Given the description of an element on the screen output the (x, y) to click on. 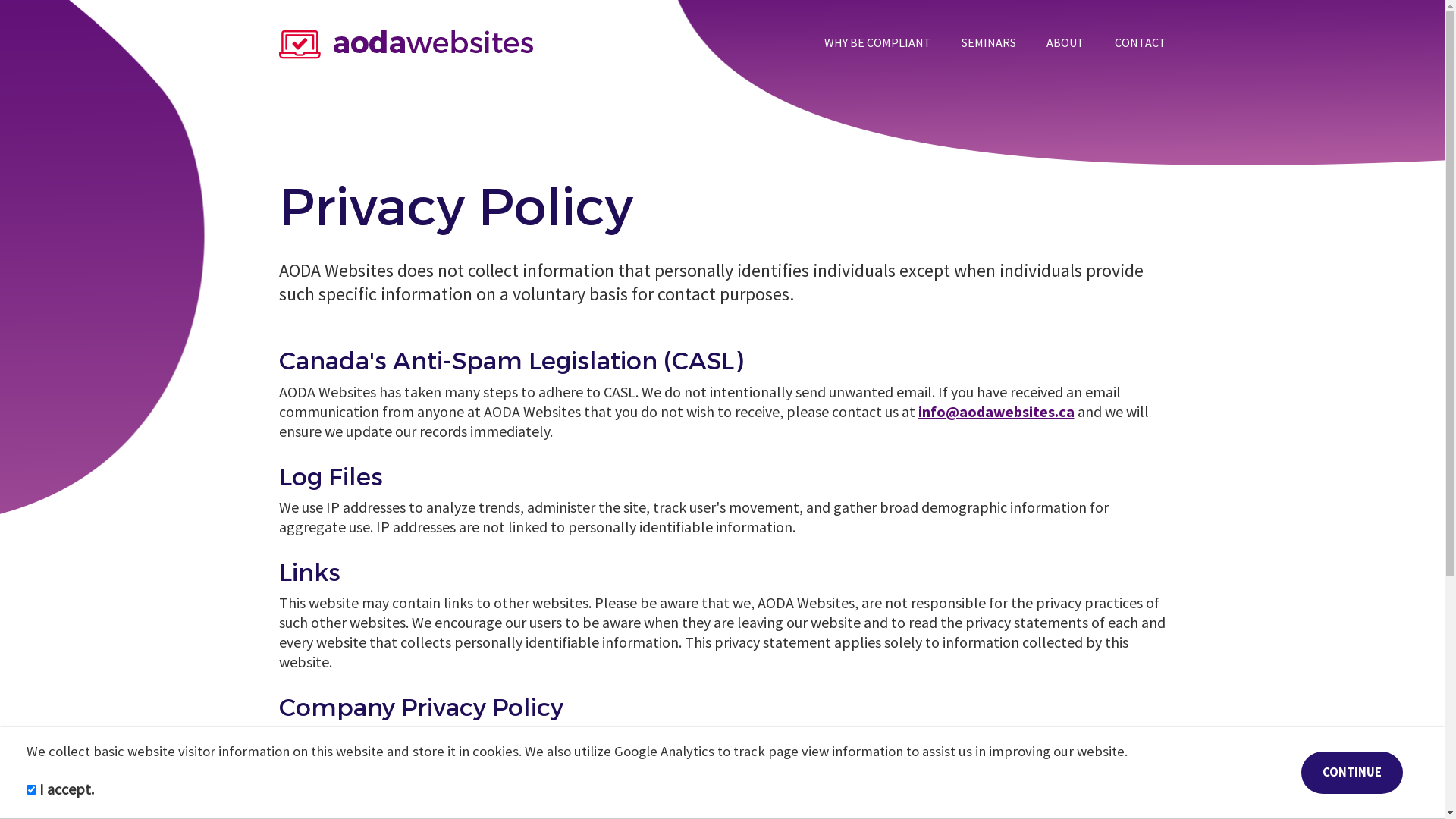
ABOUT Element type: text (1065, 42)
CONTACT Element type: text (1140, 42)
info@aodawebsites.ca Element type: text (995, 410)
SEMINARS Element type: text (988, 42)
WHY BE COMPLIANT Element type: text (876, 42)
Please click here Element type: text (335, 737)
CONTINUE Element type: text (1351, 772)
